Given the description of an element on the screen output the (x, y) to click on. 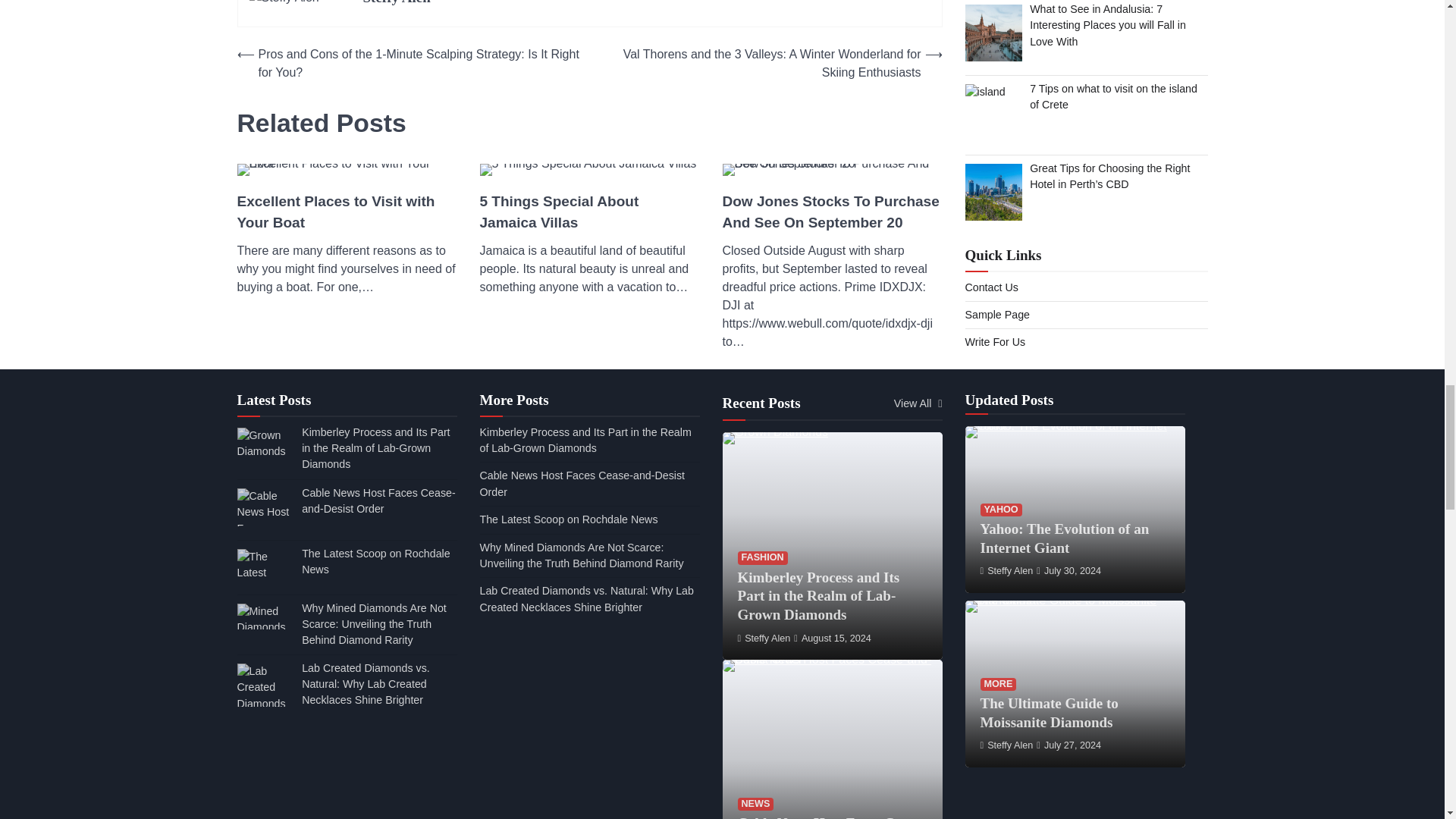
5 Things Special About Jamaica Villas (588, 212)
Dow Jones Stocks To Purchase And See On September 20 (832, 169)
Excellent Places to Visit with Your Boat (346, 169)
Excellent Places to Visit with Your Boat (346, 212)
Dow Jones Stocks To Purchase And See On September 20 (832, 212)
